Given the description of an element on the screen output the (x, y) to click on. 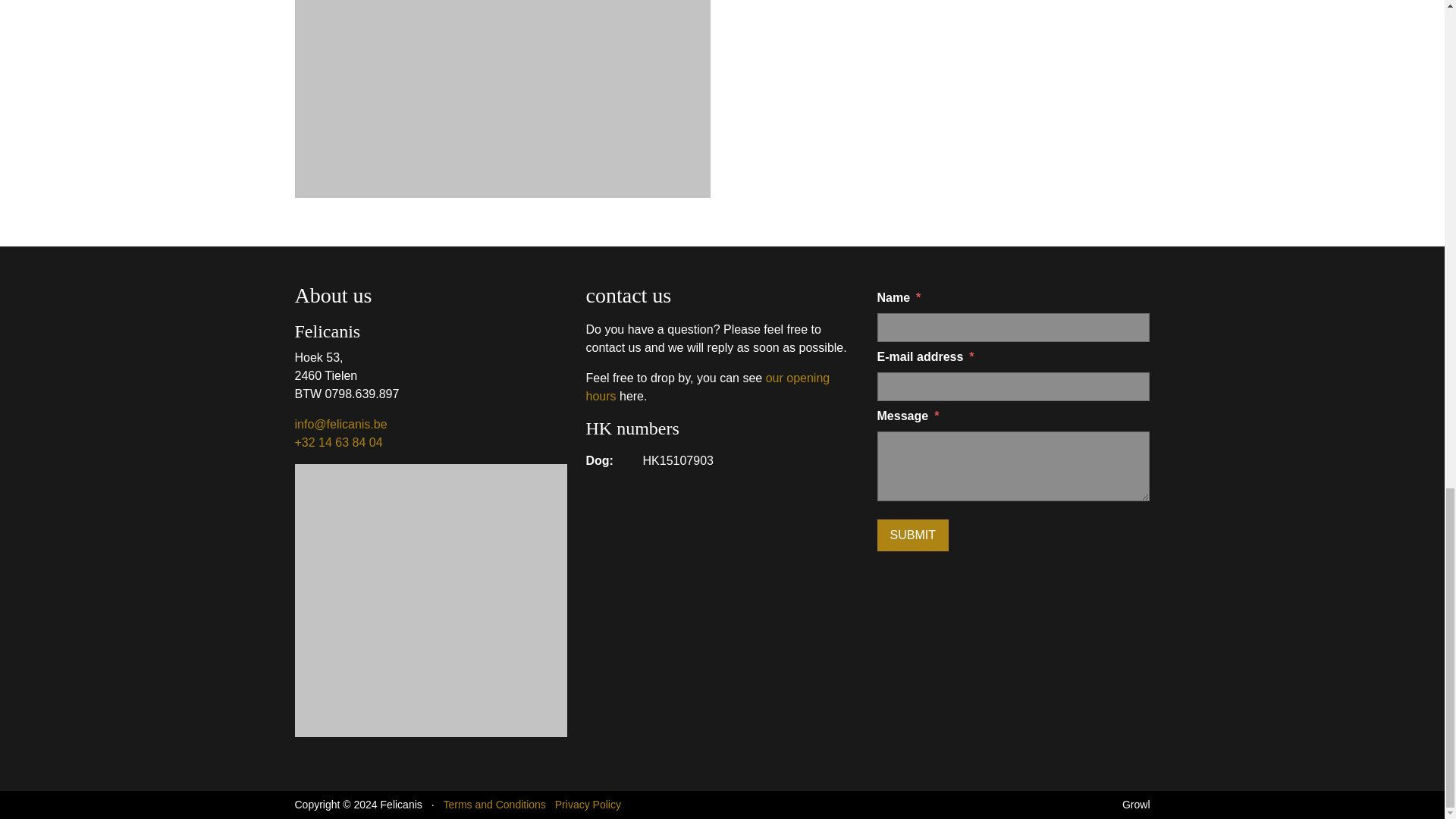
Submit (913, 535)
Privacy Policy (587, 804)
Growl (1136, 804)
Terms and Conditions (493, 804)
our opening hours (707, 386)
Submit (913, 535)
